Given the description of an element on the screen output the (x, y) to click on. 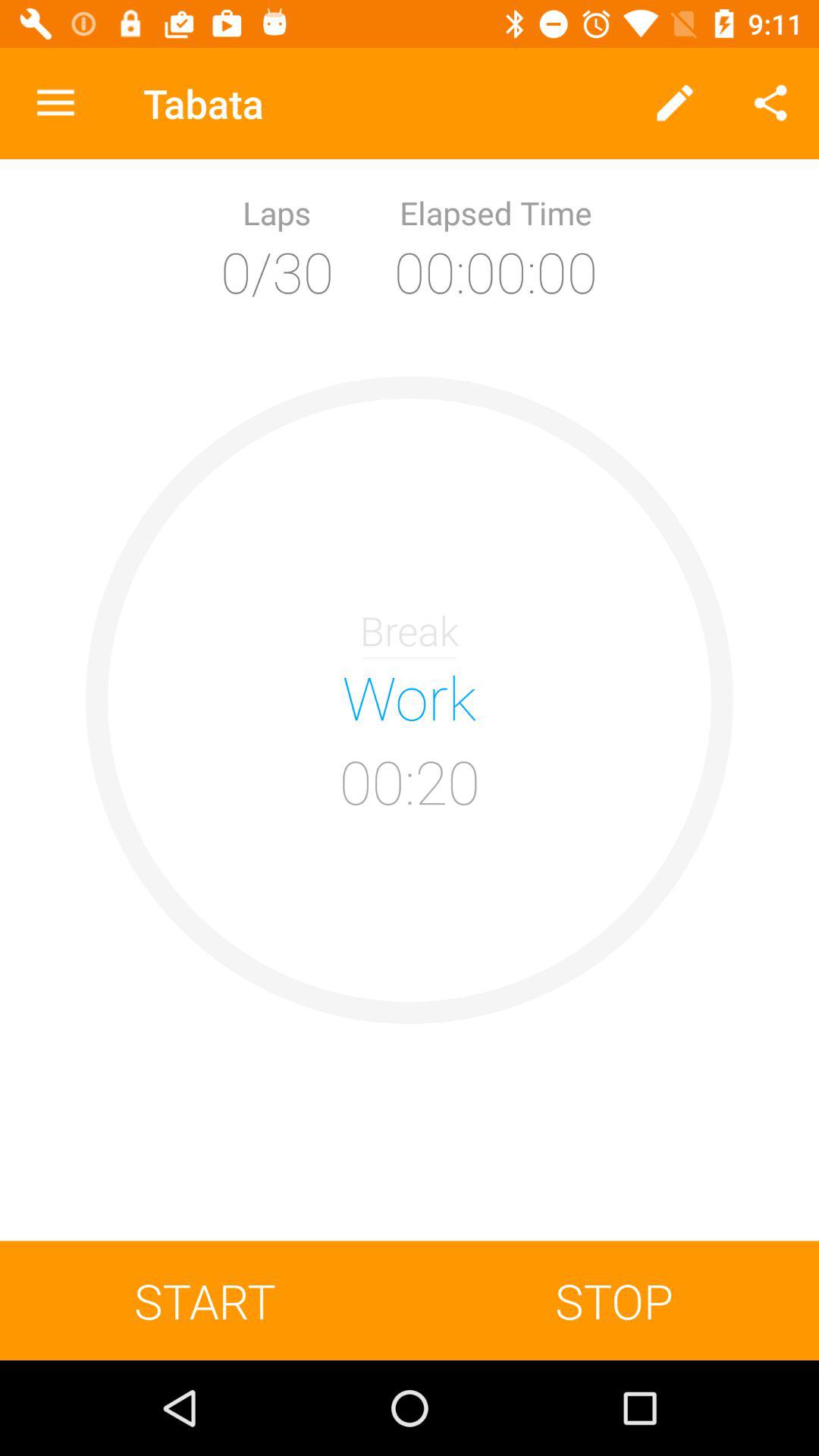
choose start icon (204, 1300)
